Given the description of an element on the screen output the (x, y) to click on. 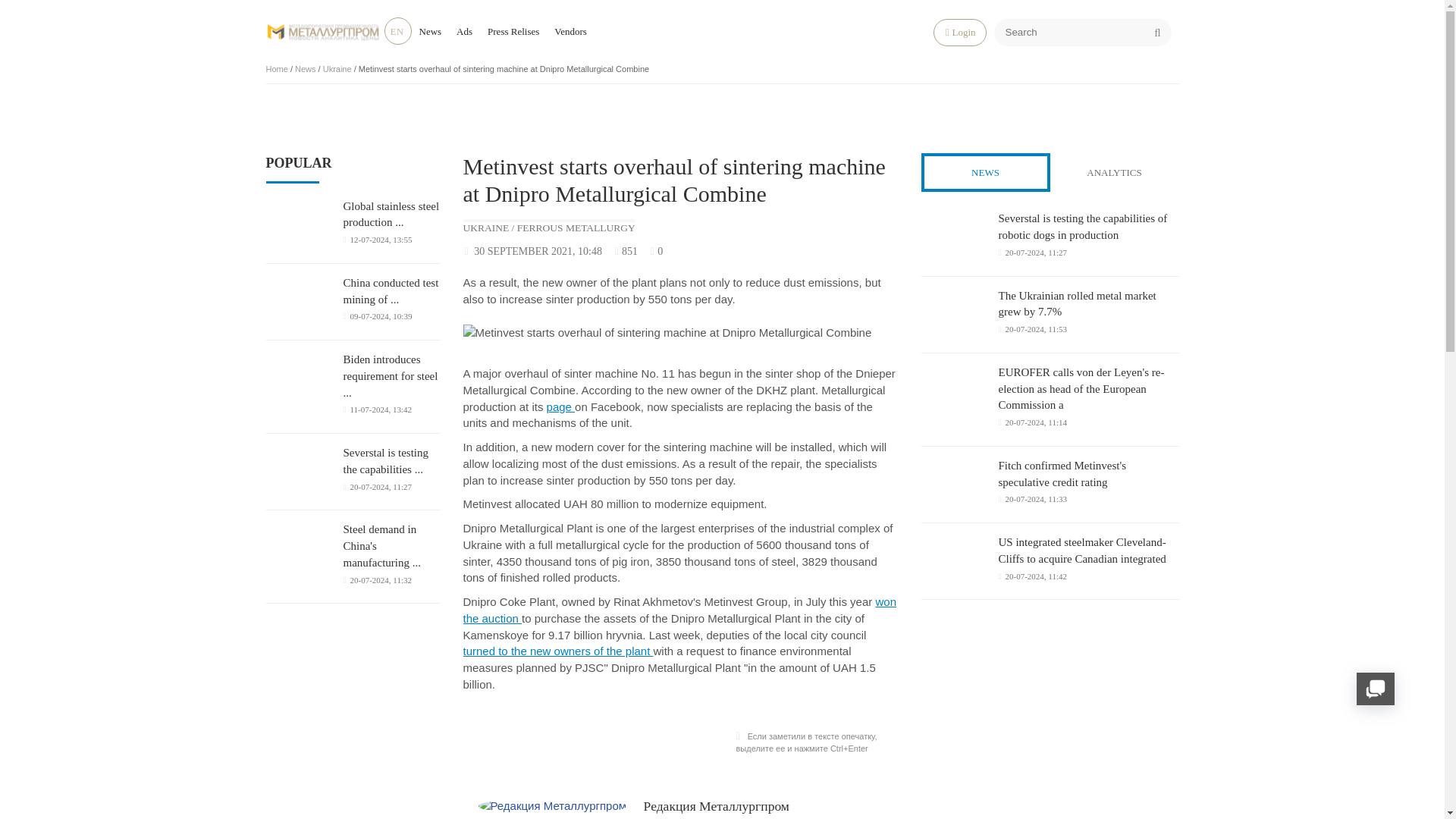
Ukraine (337, 68)
Vendors (570, 30)
Severstal is testing the capabilities ... (390, 461)
Steel demand in China's manufacturing ... (390, 545)
Useless (838, 250)
Press Relises (512, 30)
Poor (852, 250)
Global stainless steel production ... (390, 215)
News (305, 68)
Biden introduces requirement for steel ... (390, 376)
Good (878, 250)
News (430, 30)
Home (275, 68)
China conducted test mining of ... (390, 291)
Excellent (889, 250)
